Given the description of an element on the screen output the (x, y) to click on. 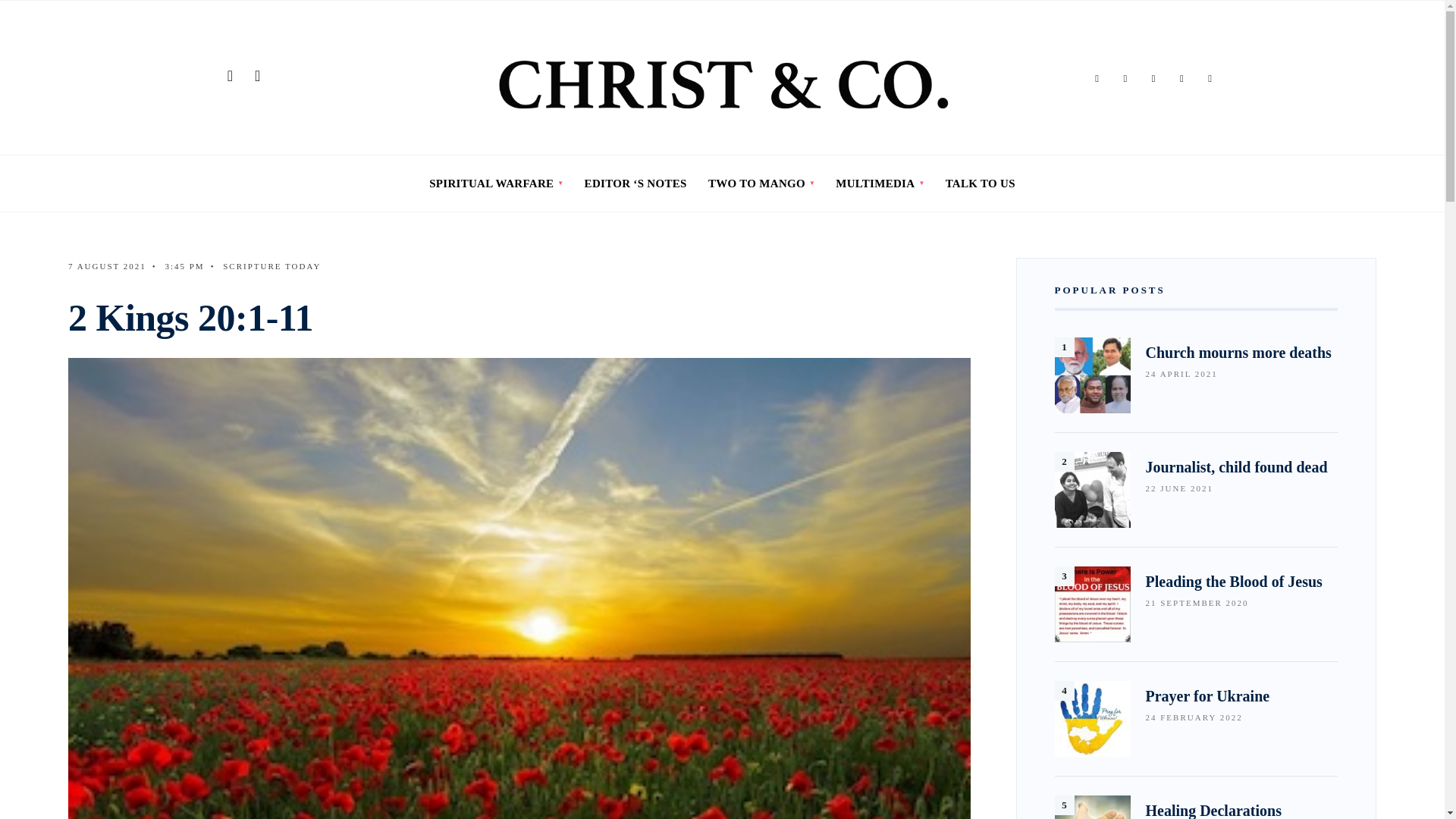
MULTIMEDIA (879, 183)
YouTube (1210, 79)
Instagram (1153, 79)
TWO TO MANGO (760, 183)
Pinterest (1181, 79)
SCRIPTURE TODAY (271, 266)
Twitter (1125, 79)
Facebook (1096, 79)
SPIRITUAL WARFARE (495, 183)
TALK TO US (979, 183)
